Given the description of an element on the screen output the (x, y) to click on. 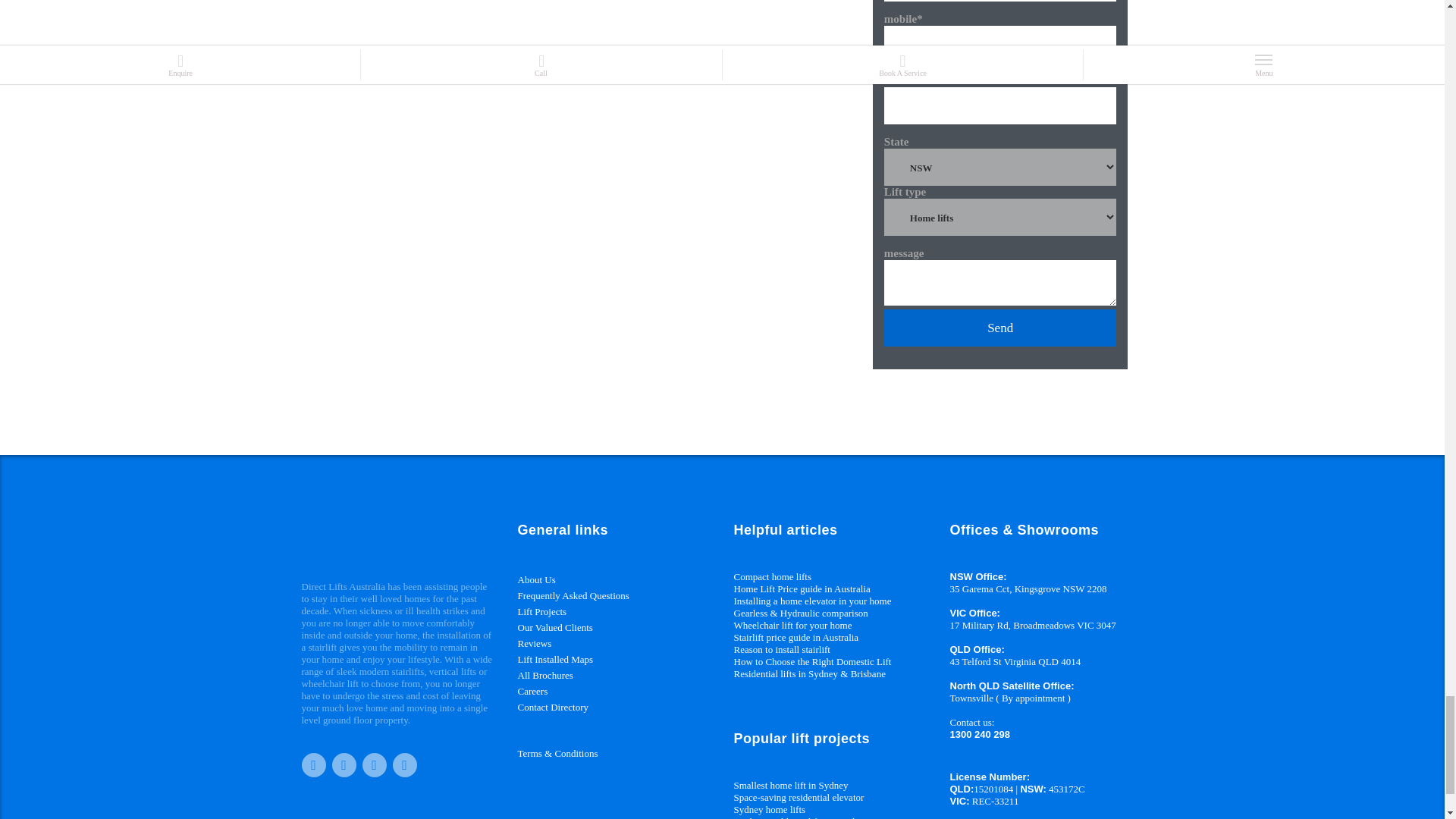
Send (999, 327)
